Given the description of an element on the screen output the (x, y) to click on. 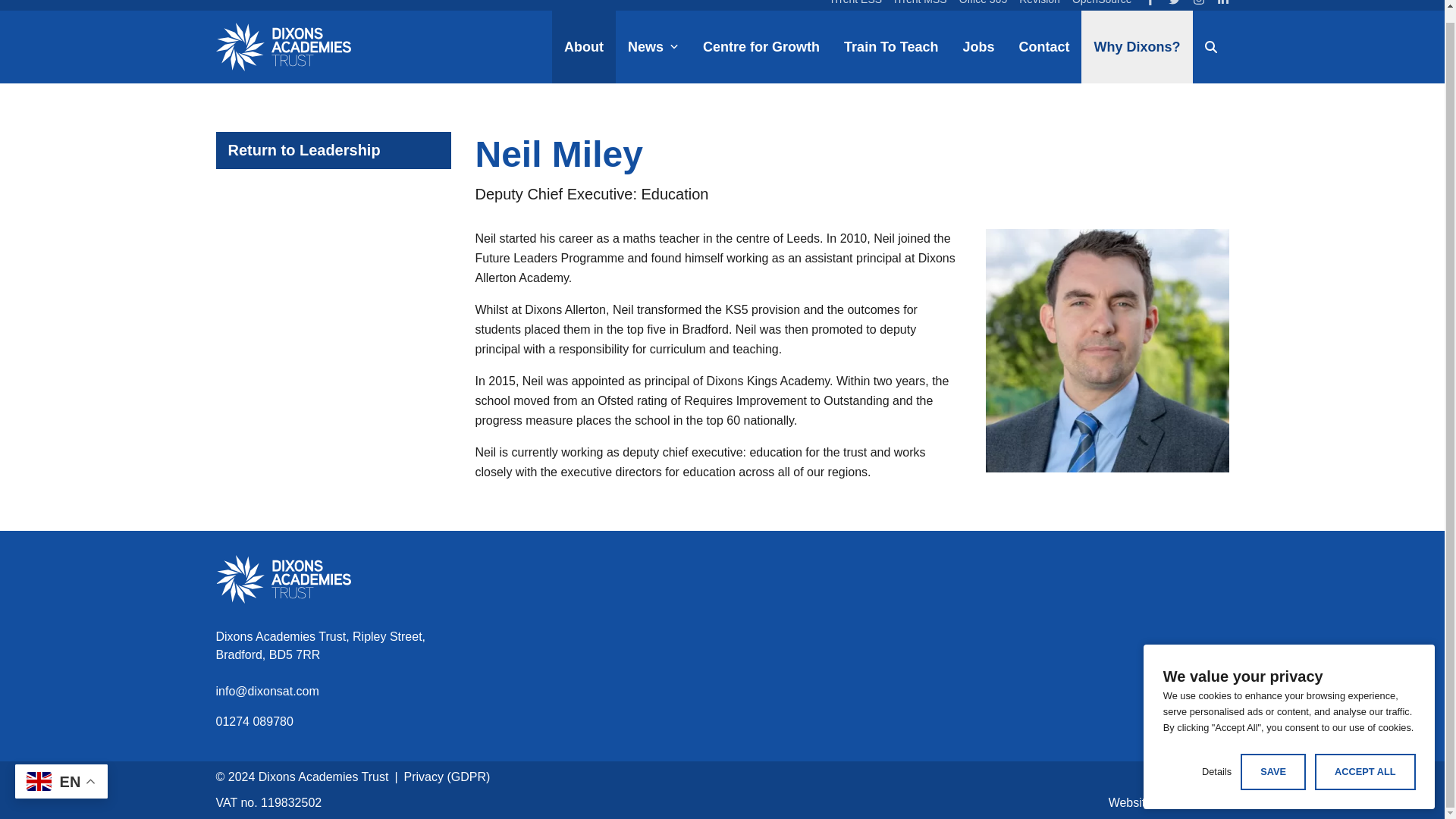
Office 365 (983, 5)
Centre for Growth (760, 46)
Why Dixons? (1136, 46)
iTrent ESS (856, 5)
OpenSource (1101, 5)
News (652, 46)
Train To Teach (890, 46)
ACCEPT ALL (1364, 759)
Return to Leadership (332, 149)
Revision (1039, 5)
